Given the description of an element on the screen output the (x, y) to click on. 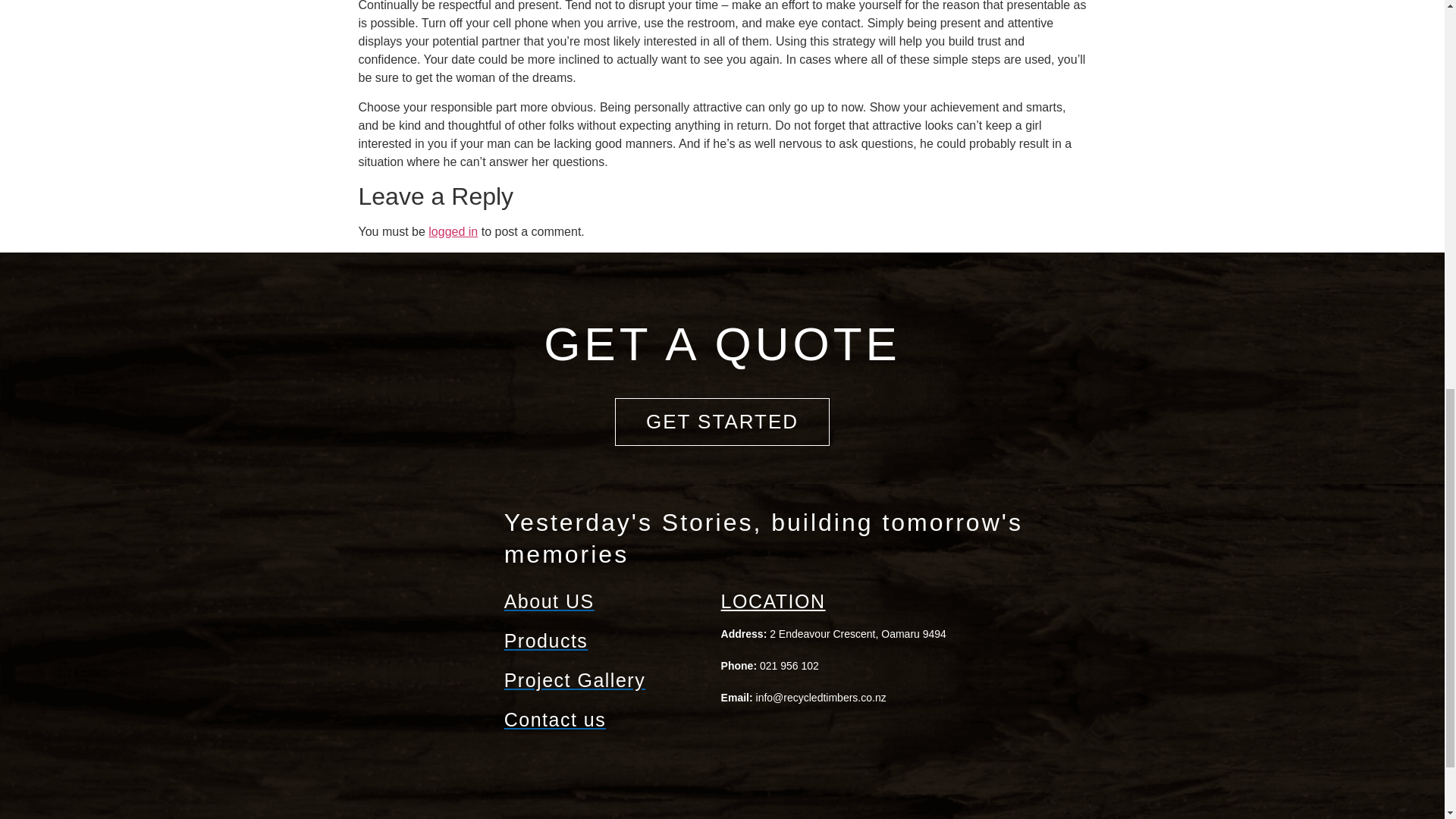
Project Gallery (604, 679)
GET STARTED (721, 421)
About US (604, 600)
logged in (452, 231)
Contact us (604, 719)
Products (604, 640)
